Given the description of an element on the screen output the (x, y) to click on. 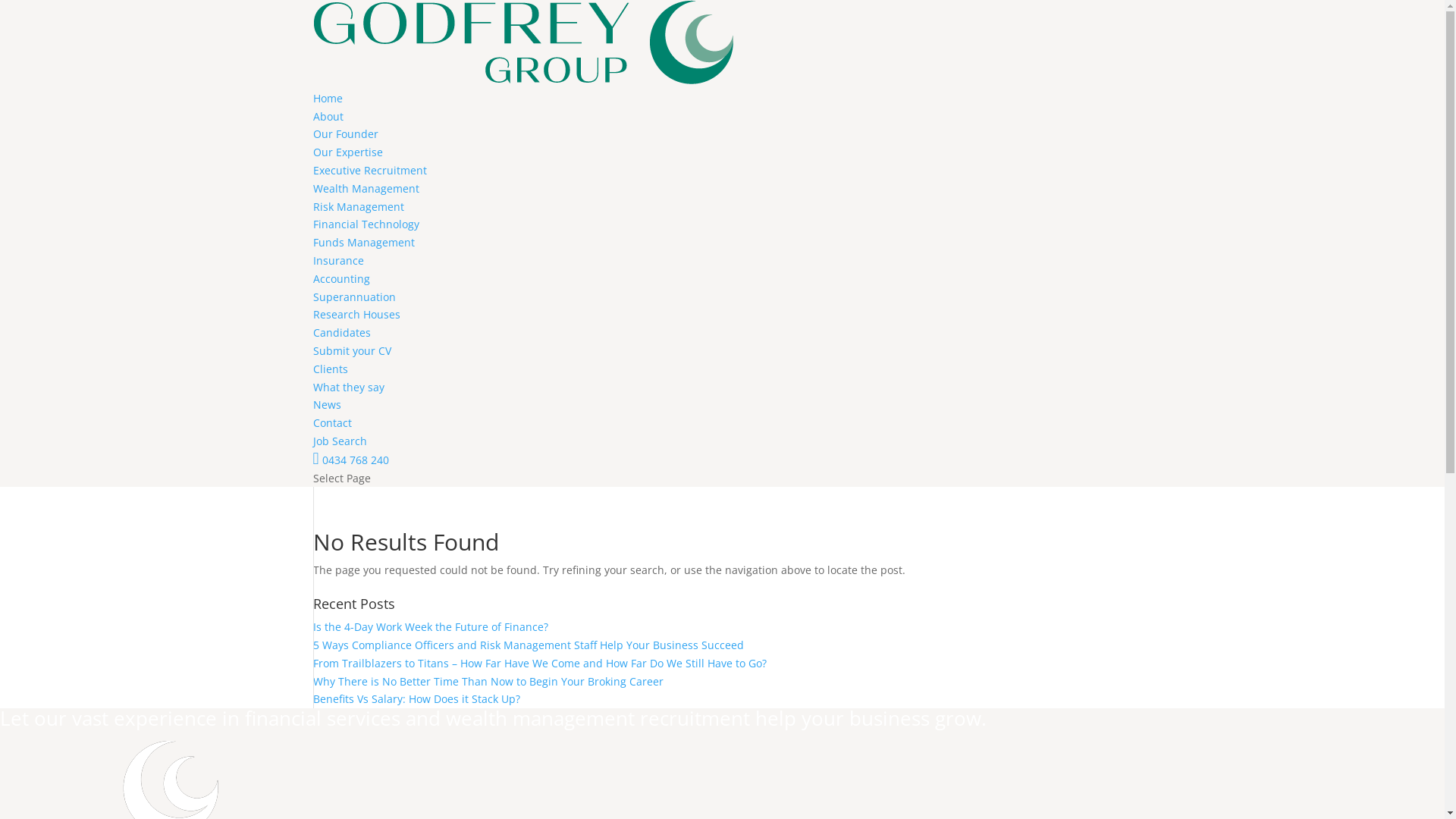
Candidates Element type: text (341, 332)
Superannuation Element type: text (353, 296)
Wealth Management Element type: text (365, 188)
Funds Management Element type: text (363, 242)
Executive Recruitment Element type: text (369, 170)
Clients Element type: text (329, 368)
Our Expertise Element type: text (347, 151)
Financial Technology Element type: text (365, 223)
What they say Element type: text (347, 386)
Risk Management Element type: text (357, 206)
Is the 4-Day Work Week the Future of Finance? Element type: text (429, 626)
Insurance Element type: text (337, 260)
Contact Element type: text (331, 422)
Research Houses Element type: text (355, 314)
About Element type: text (327, 116)
Submit your CV Element type: text (351, 350)
News Element type: text (326, 404)
Our Founder Element type: text (344, 133)
Benefits Vs Salary: How Does it Stack Up? Element type: text (415, 698)
Home Element type: text (327, 98)
Job Search Element type: text (339, 440)
Accounting Element type: text (340, 278)
